Given the description of an element on the screen output the (x, y) to click on. 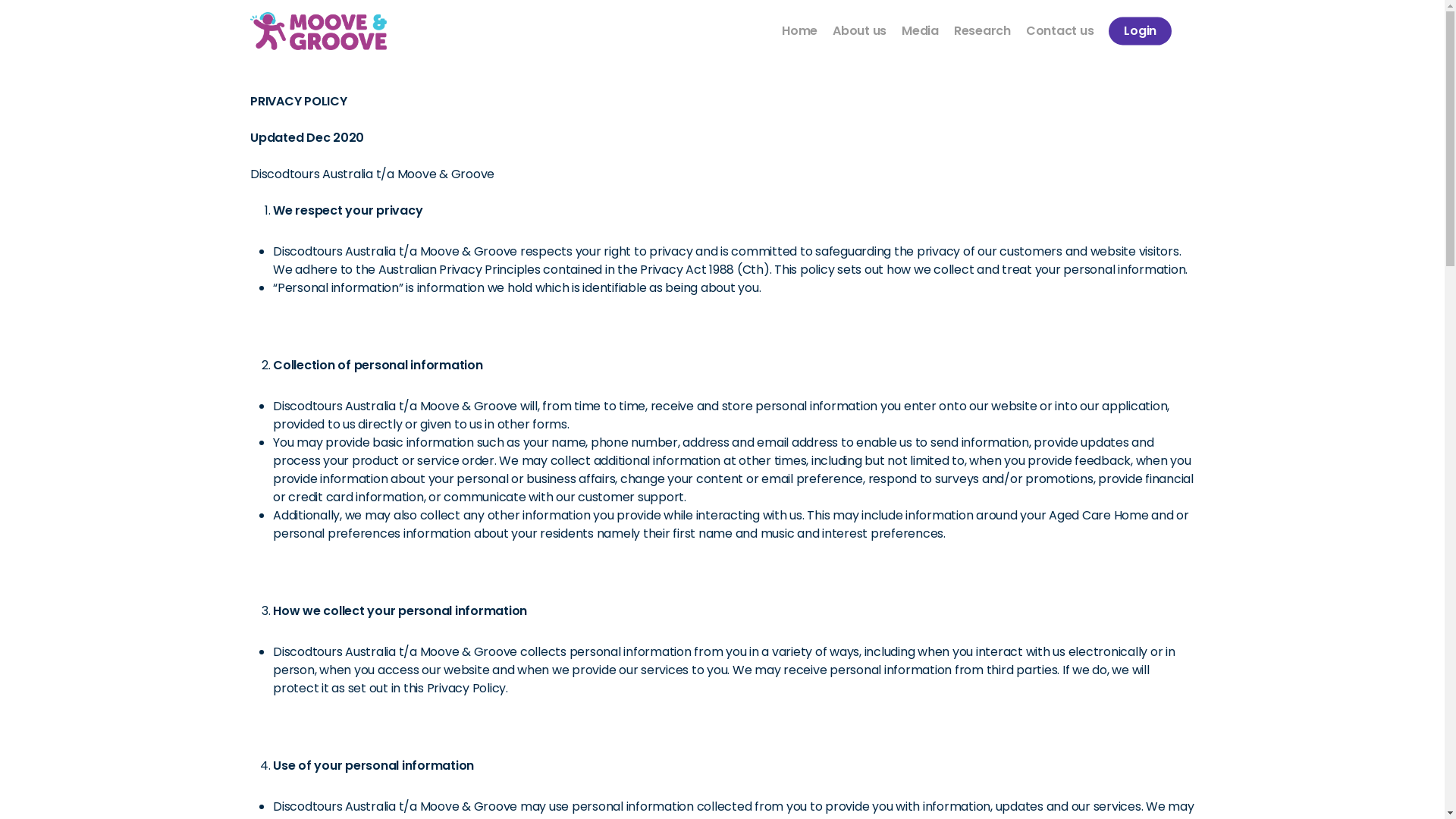
Media Element type: text (919, 31)
Home Element type: text (799, 31)
Contact us Element type: text (1060, 31)
Research Element type: text (981, 31)
Login Element type: text (1139, 31)
About us Element type: text (859, 31)
